Given the description of an element on the screen output the (x, y) to click on. 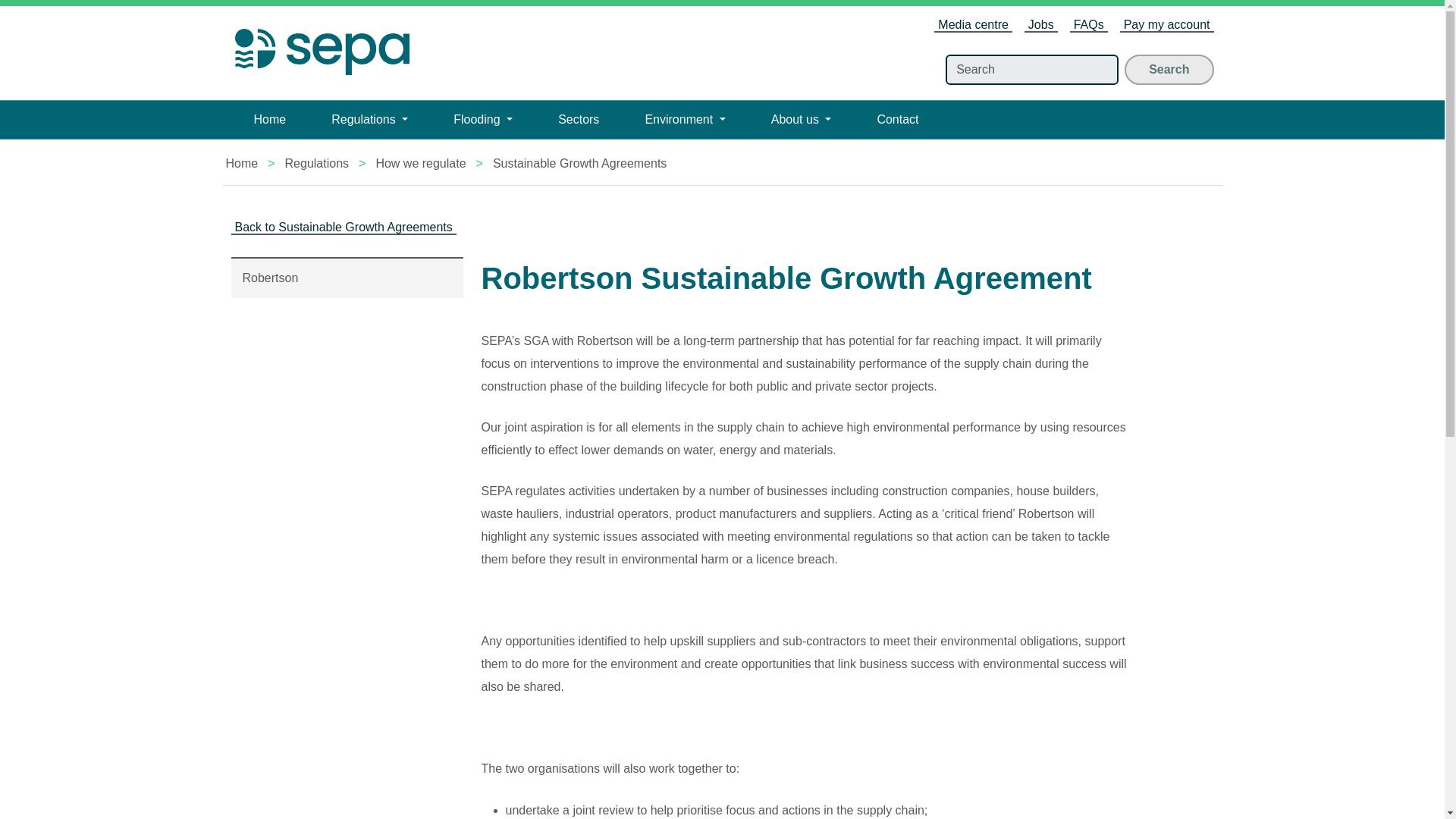
Regulations (369, 119)
Media centre (972, 25)
Pay my account (1166, 25)
Return to the homepage (321, 46)
FAQs (1089, 25)
Search (1168, 69)
Sectors (578, 119)
Home (269, 119)
Environment (684, 119)
